Given the description of an element on the screen output the (x, y) to click on. 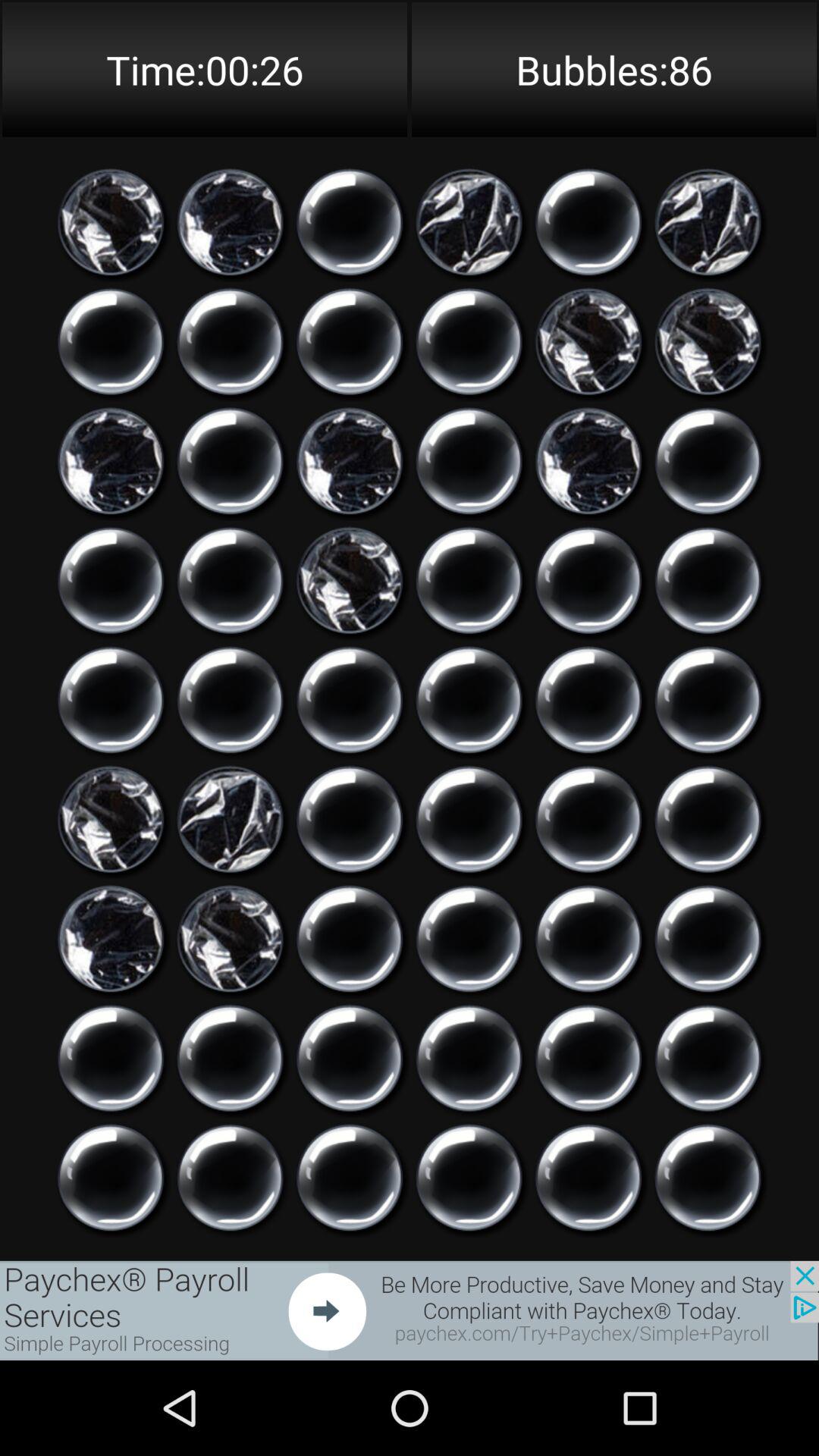
click on bubbles (468, 580)
